Given the description of an element on the screen output the (x, y) to click on. 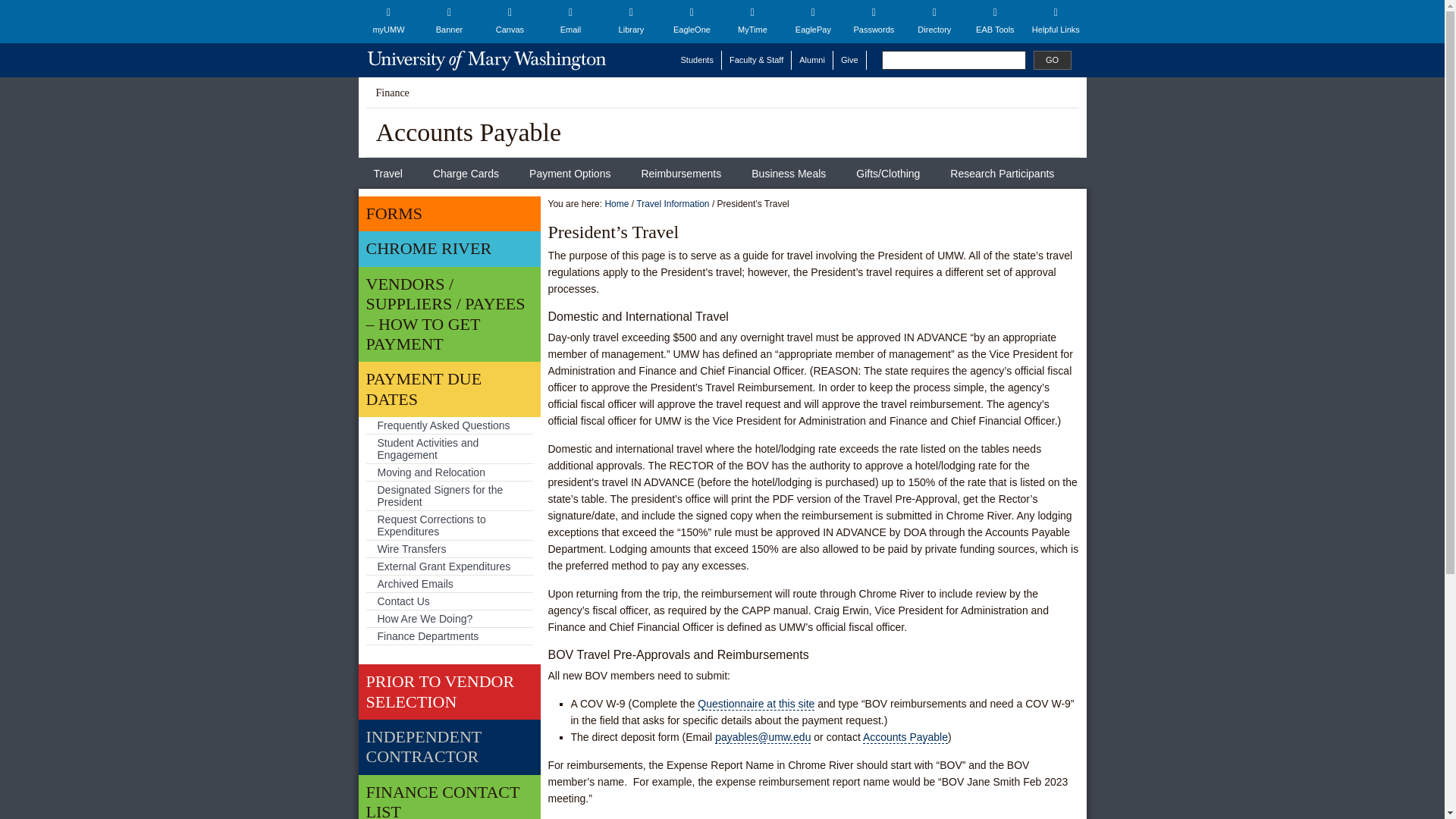
EaglePay (813, 21)
EAB Tools (994, 21)
Go to Finance site (392, 92)
Alumni (812, 59)
Helpful Links (1055, 21)
MyTime (752, 21)
search (952, 59)
myUMW (388, 21)
EagleOne (691, 21)
Go (1051, 59)
